Given the description of an element on the screen output the (x, y) to click on. 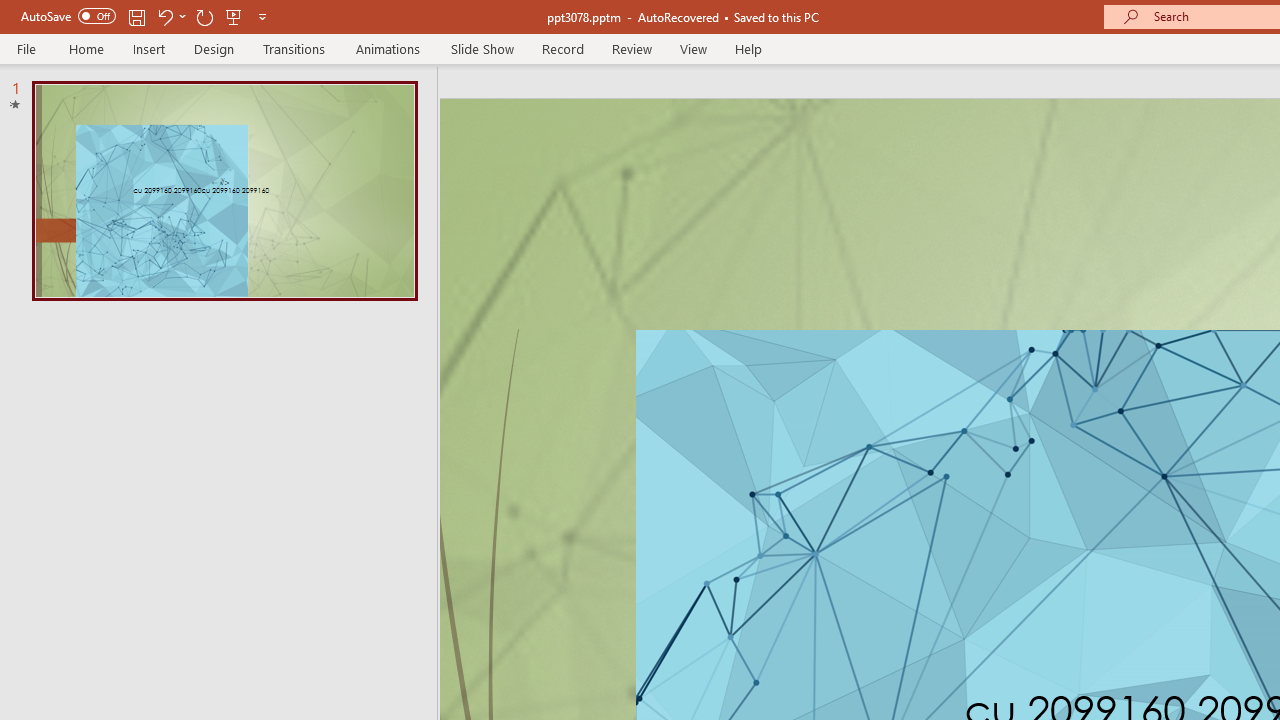
File Tab (26, 48)
More Options (182, 15)
Animations (388, 48)
Transitions (294, 48)
Design (214, 48)
Customize Quick Access Toolbar (262, 15)
Review (631, 48)
AutoSave (68, 16)
From Beginning (234, 15)
